Given the description of an element on the screen output the (x, y) to click on. 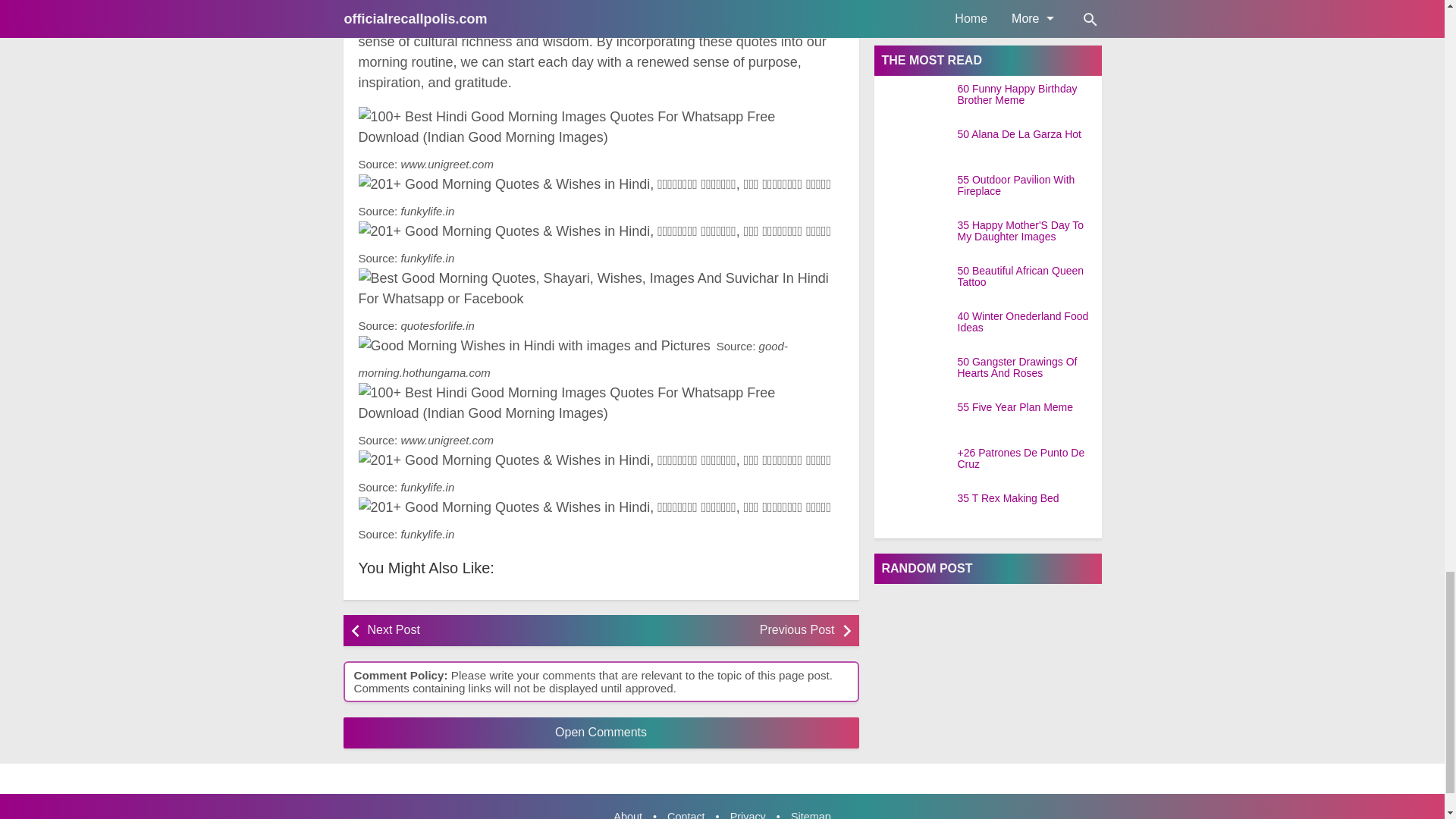
Older Post (721, 630)
Next Post (479, 630)
Newer Post (479, 630)
Previous Post (721, 630)
